Given the description of an element on the screen output the (x, y) to click on. 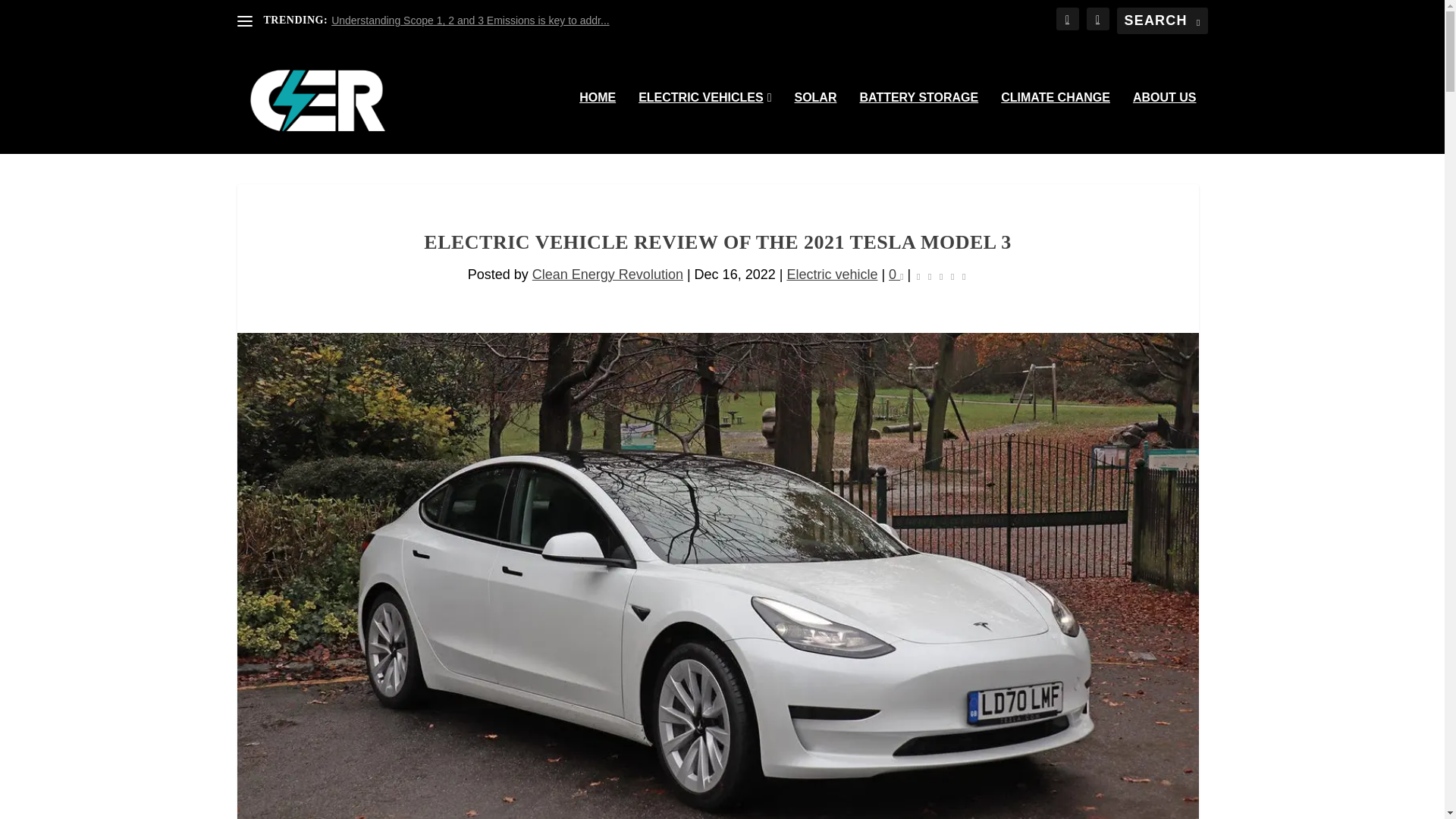
Clean Energy Revolution (607, 273)
ABOUT US (1164, 122)
Electric vehicle (831, 273)
BATTERY STORAGE (918, 122)
Posts by Clean Energy Revolution (607, 273)
ELECTRIC VEHICLES (705, 122)
Rating: 5.00 (941, 275)
CLIMATE CHANGE (1055, 122)
0 (895, 273)
Understanding Scope 1, 2 and 3 Emissions is key to addr... (470, 20)
